Given the description of an element on the screen output the (x, y) to click on. 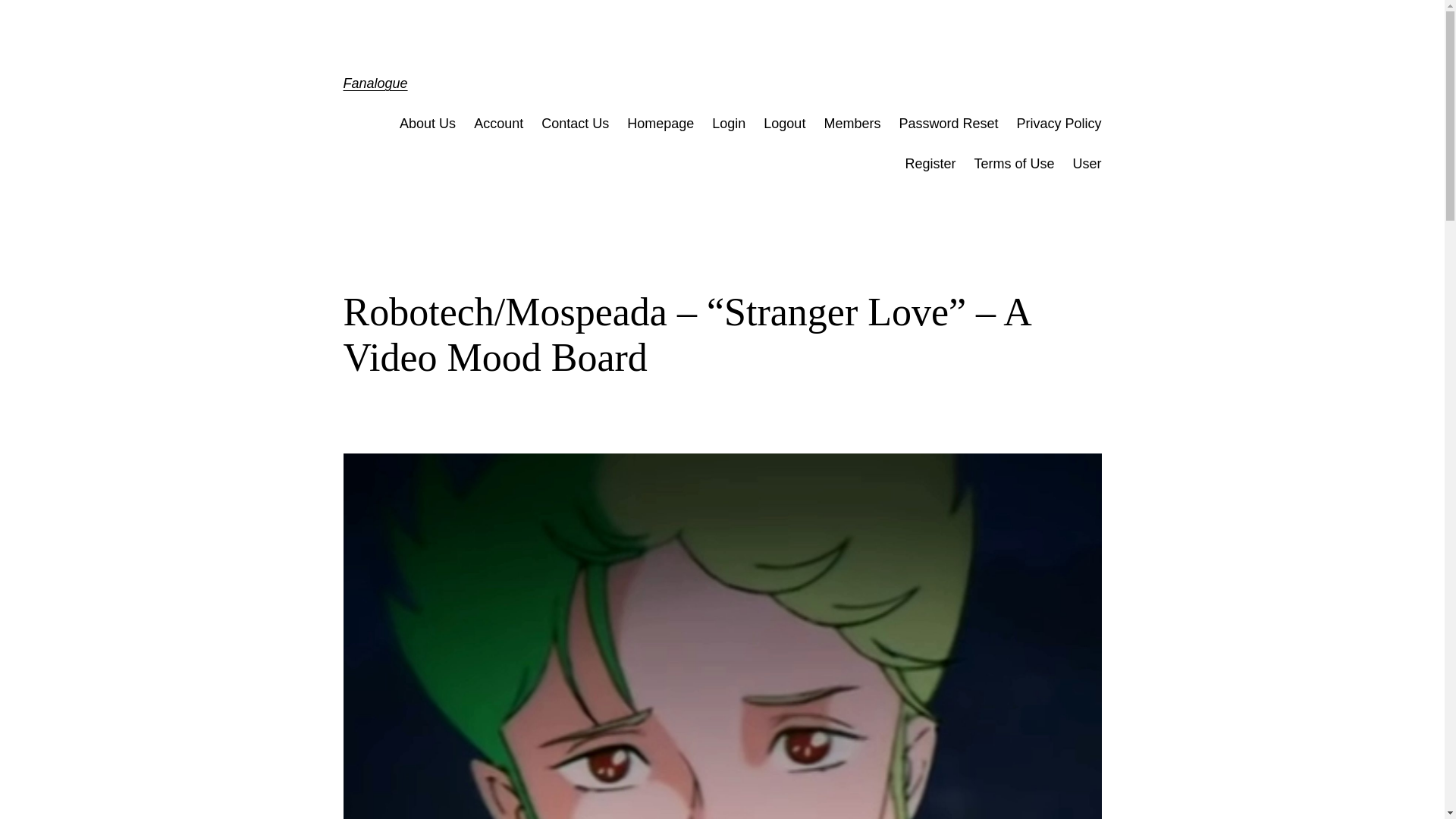
Password Reset (947, 124)
Contact Us (574, 124)
Register (929, 164)
Privacy Policy (1058, 124)
User (1085, 164)
About Us (426, 124)
Account (498, 124)
Fanalogue (374, 83)
Logout (783, 124)
Terms of Use (1014, 164)
Homepage (660, 124)
Members (852, 124)
Login (728, 124)
